Given the description of an element on the screen output the (x, y) to click on. 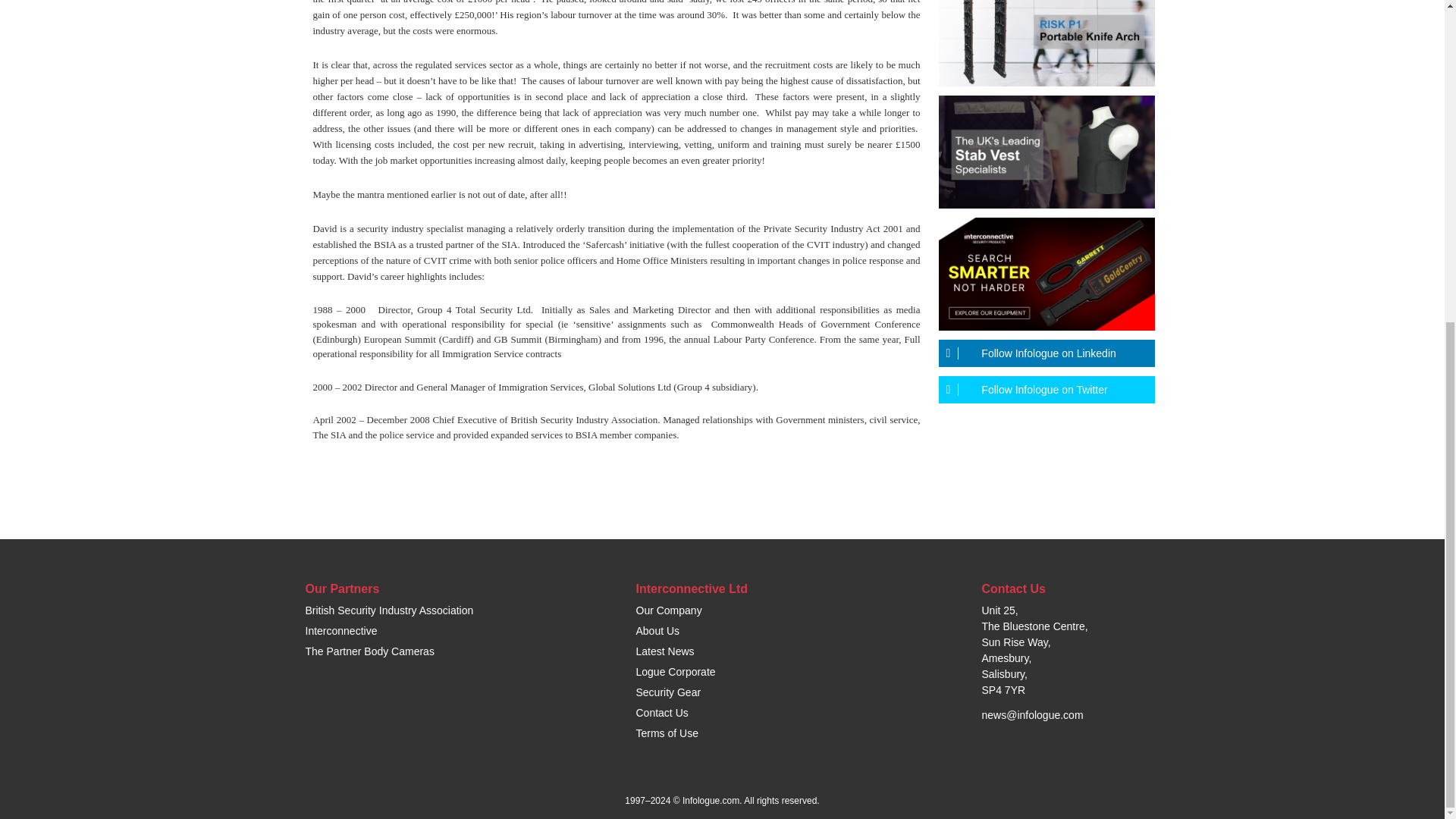
Follow Infologue on Linkedin (1046, 352)
Follow Infologue on Twitter (1046, 389)
